Given the description of an element on the screen output the (x, y) to click on. 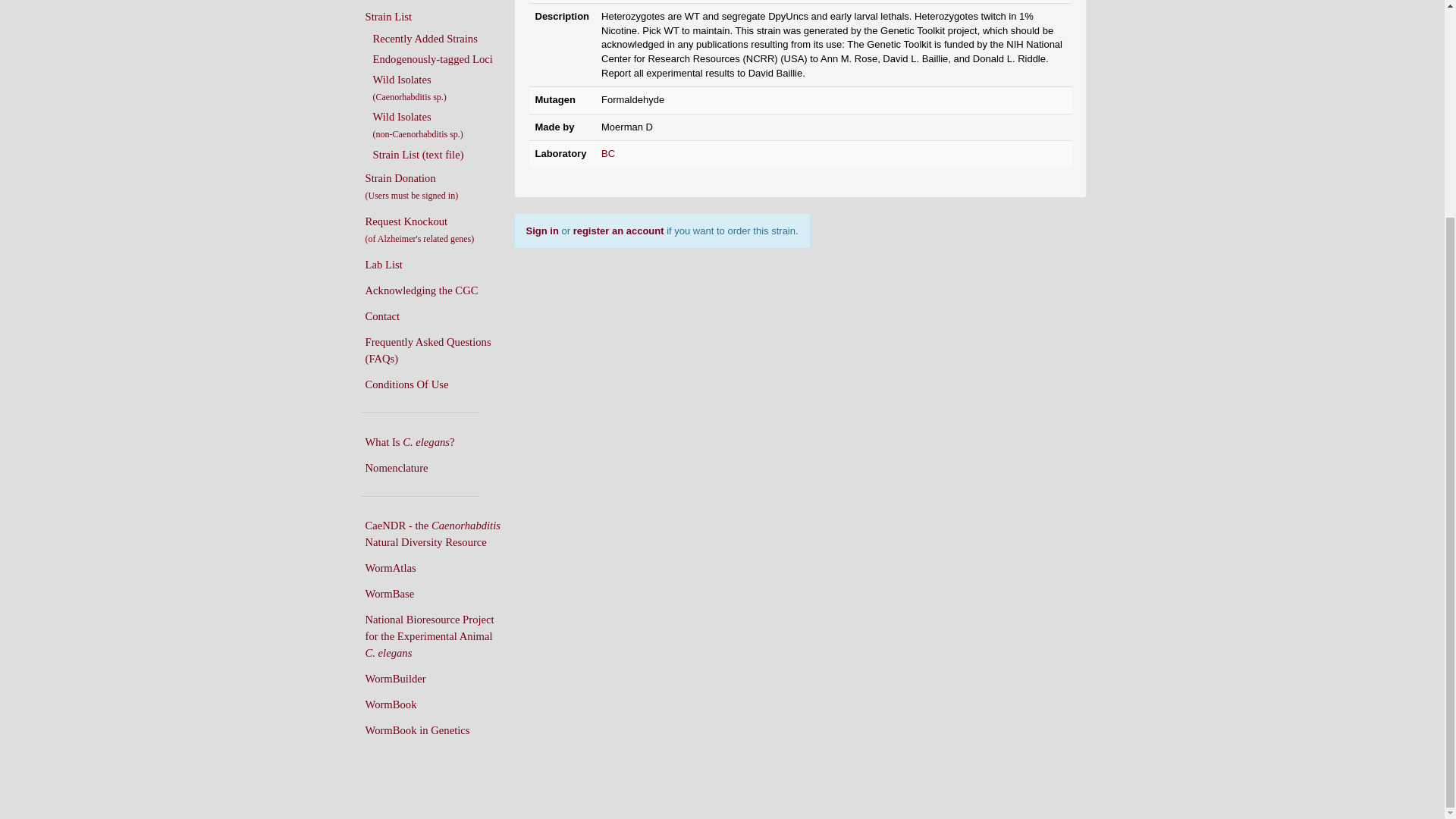
What Is C. elegans? (436, 442)
Conditions Of Use (436, 384)
Strain List (436, 16)
WormAtlas (436, 567)
register an account (618, 230)
BC (607, 153)
Lab List (436, 264)
Sign in (542, 230)
WormBase (436, 593)
WormBuilder (436, 678)
Contact (436, 316)
Acknowledging the CGC (436, 290)
Recently Added Strains (440, 38)
Nomenclature (436, 467)
